Given the description of an element on the screen output the (x, y) to click on. 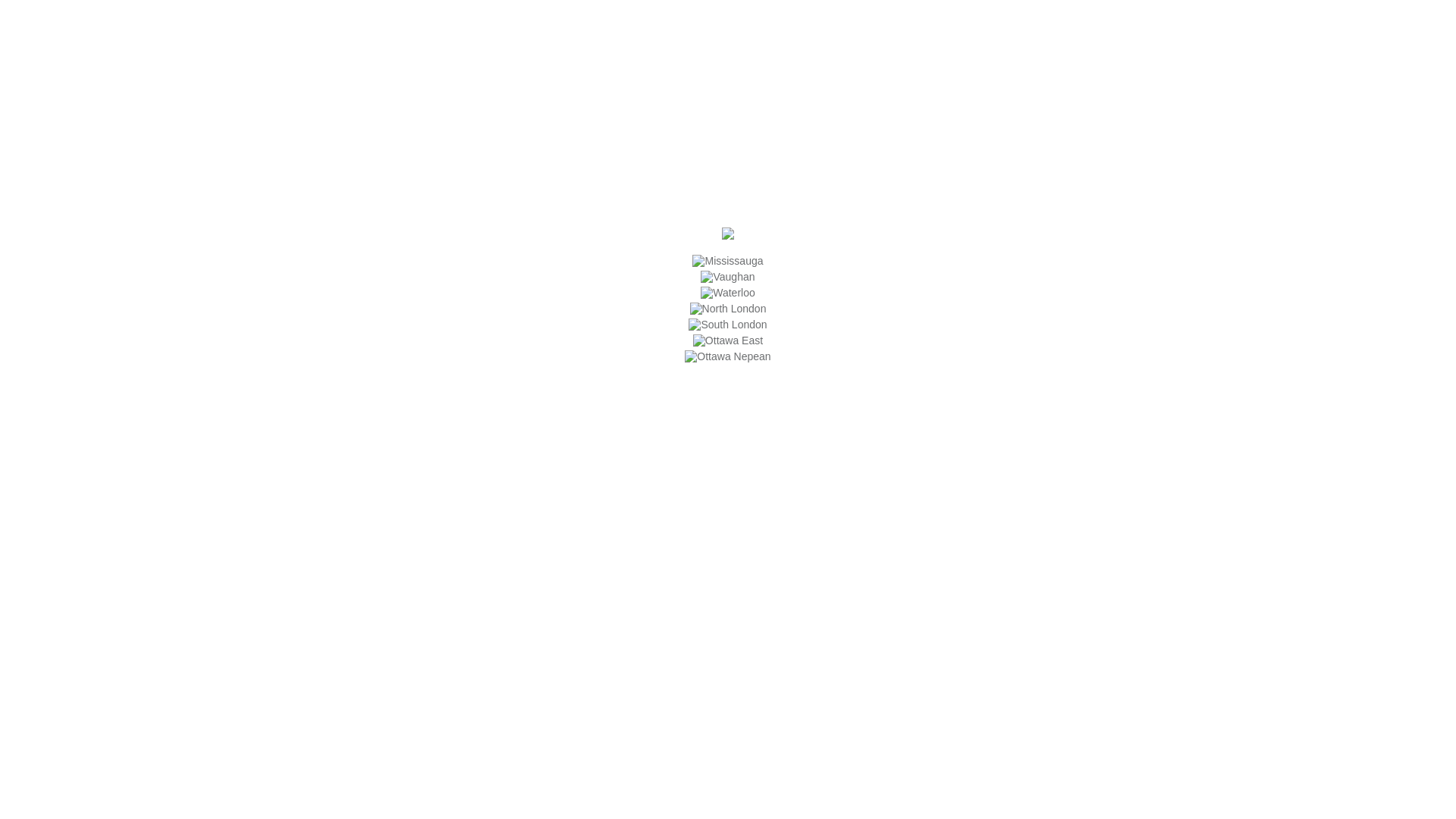
Ottawa Nepean Element type: hover (727, 356)
Ottawa East Element type: hover (727, 340)
168 Sushi Buffet Element type: hover (727, 235)
Waterloo Element type: hover (727, 292)
South London Element type: hover (727, 324)
North London Element type: hover (728, 308)
Vaughan Element type: hover (727, 276)
Mississauga Element type: hover (727, 260)
